Given the description of an element on the screen output the (x, y) to click on. 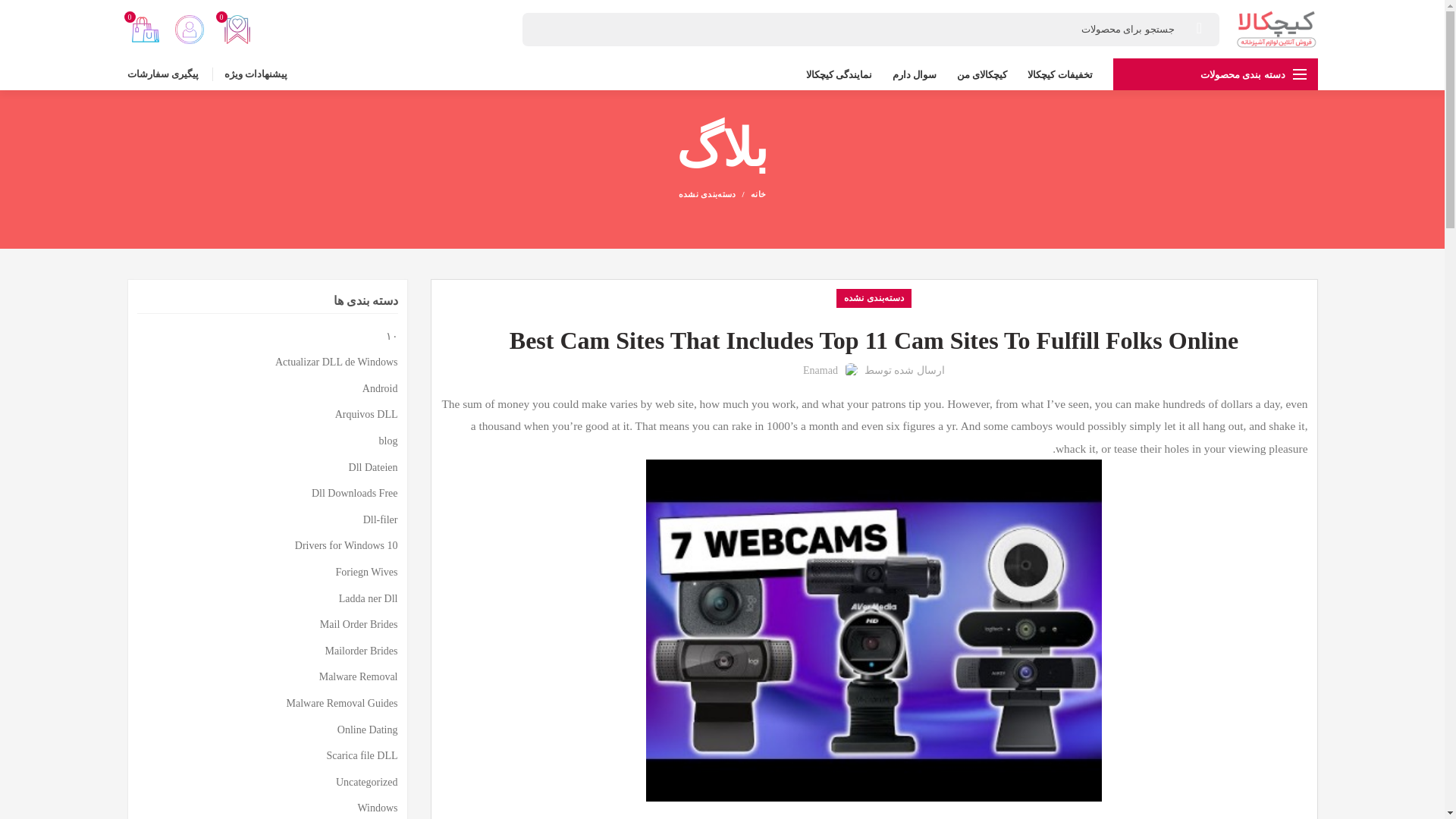
0 (144, 28)
0 (237, 28)
